Given the description of an element on the screen output the (x, y) to click on. 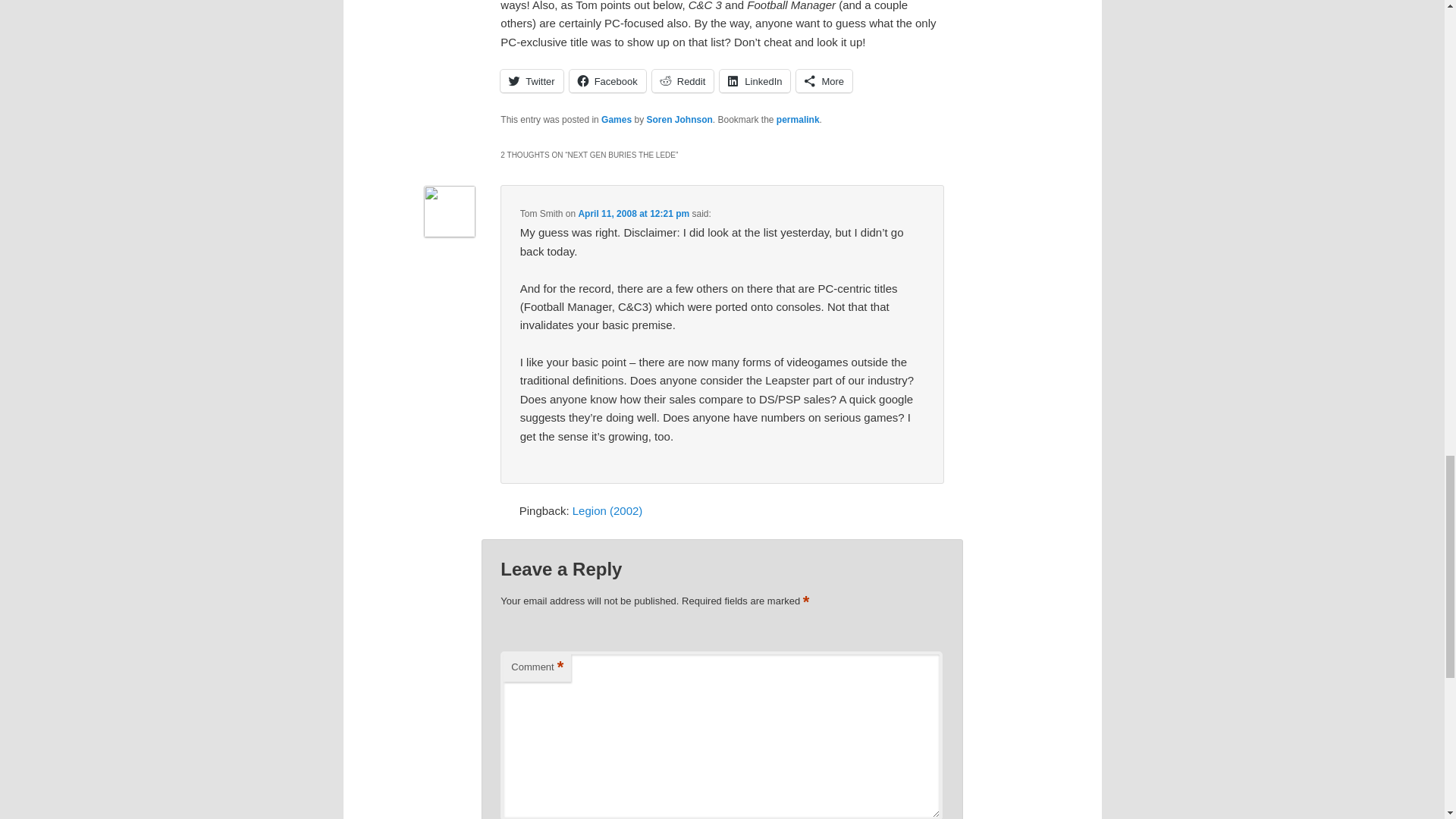
More (823, 80)
Soren Johnson (678, 119)
Permalink to Next Gen Buries the Lede (797, 119)
LinkedIn (754, 80)
Click to share on Twitter (531, 80)
Click to share on Facebook (607, 80)
Click to share on Reddit (683, 80)
Games (616, 119)
Twitter (531, 80)
Click to share on LinkedIn (754, 80)
Facebook (607, 80)
Reddit (683, 80)
